Given the description of an element on the screen output the (x, y) to click on. 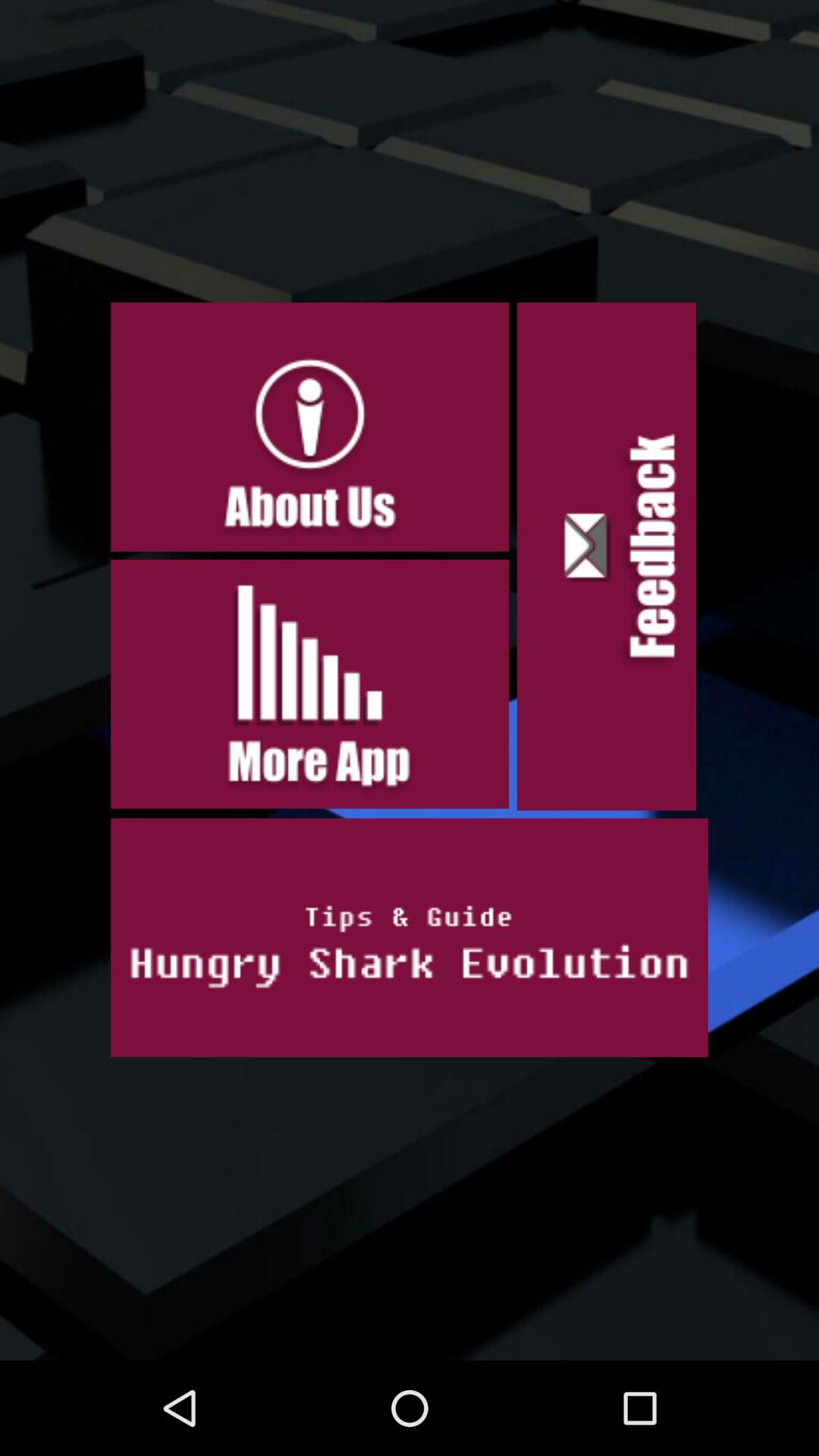
press the icon on the right (606, 556)
